Given the description of an element on the screen output the (x, y) to click on. 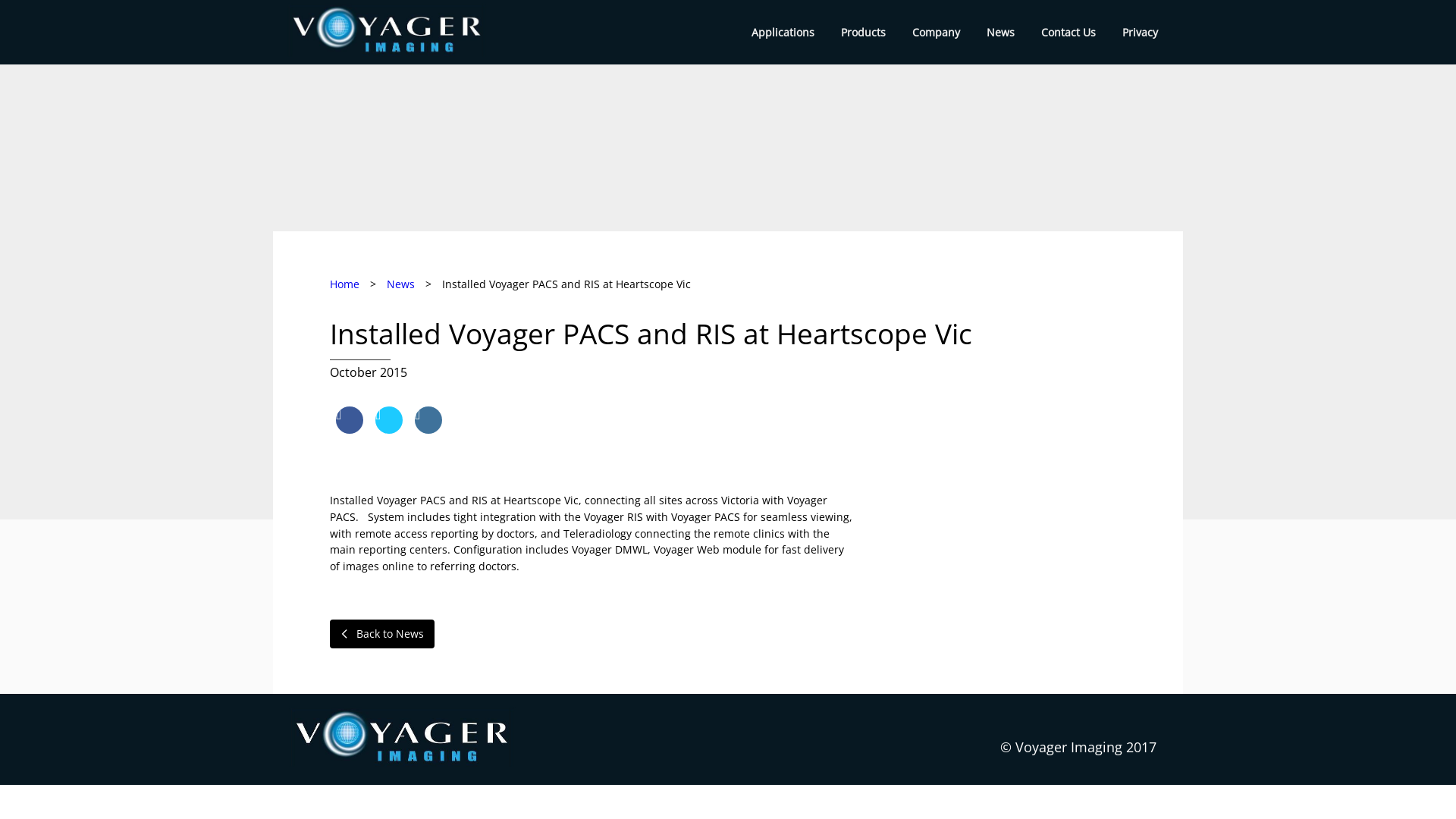
Share on Twitter Element type: hover (388, 428)
Products Element type: text (863, 32)
Privacy Element type: text (1139, 32)
Share on LinkedIn Element type: hover (428, 428)
Contact Us Element type: text (1068, 32)
News Element type: text (1000, 32)
Home Element type: text (344, 283)
Company Element type: text (935, 32)
Back to News Element type: text (381, 633)
Share on Facebook Element type: hover (349, 428)
News Element type: text (400, 283)
Applications Element type: text (782, 32)
